Given the description of an element on the screen output the (x, y) to click on. 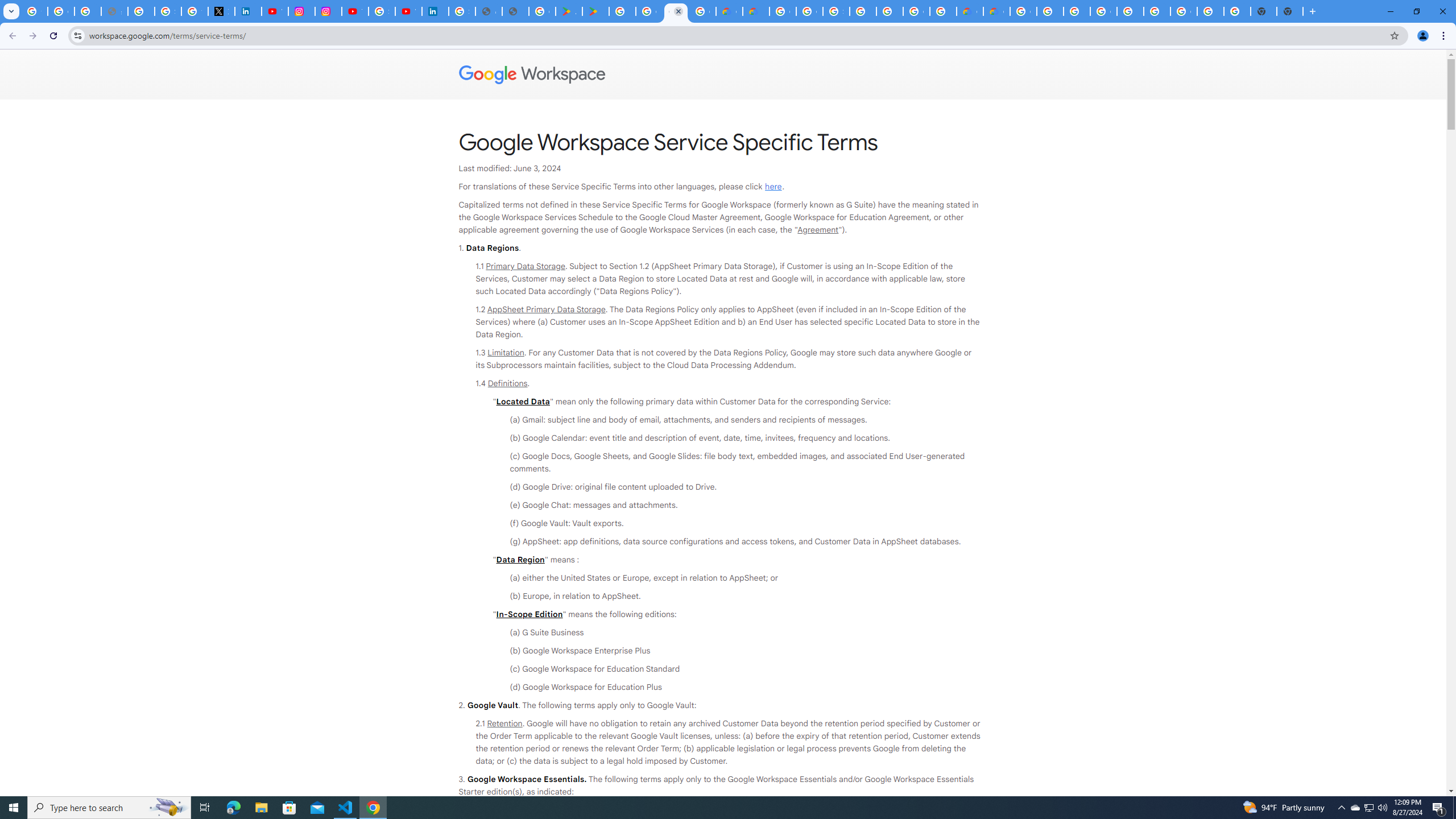
Sign in - Google Accounts (836, 11)
Google Cloud Platform (1103, 11)
User Details (515, 11)
New Tab (1289, 11)
